Given the description of an element on the screen output the (x, y) to click on. 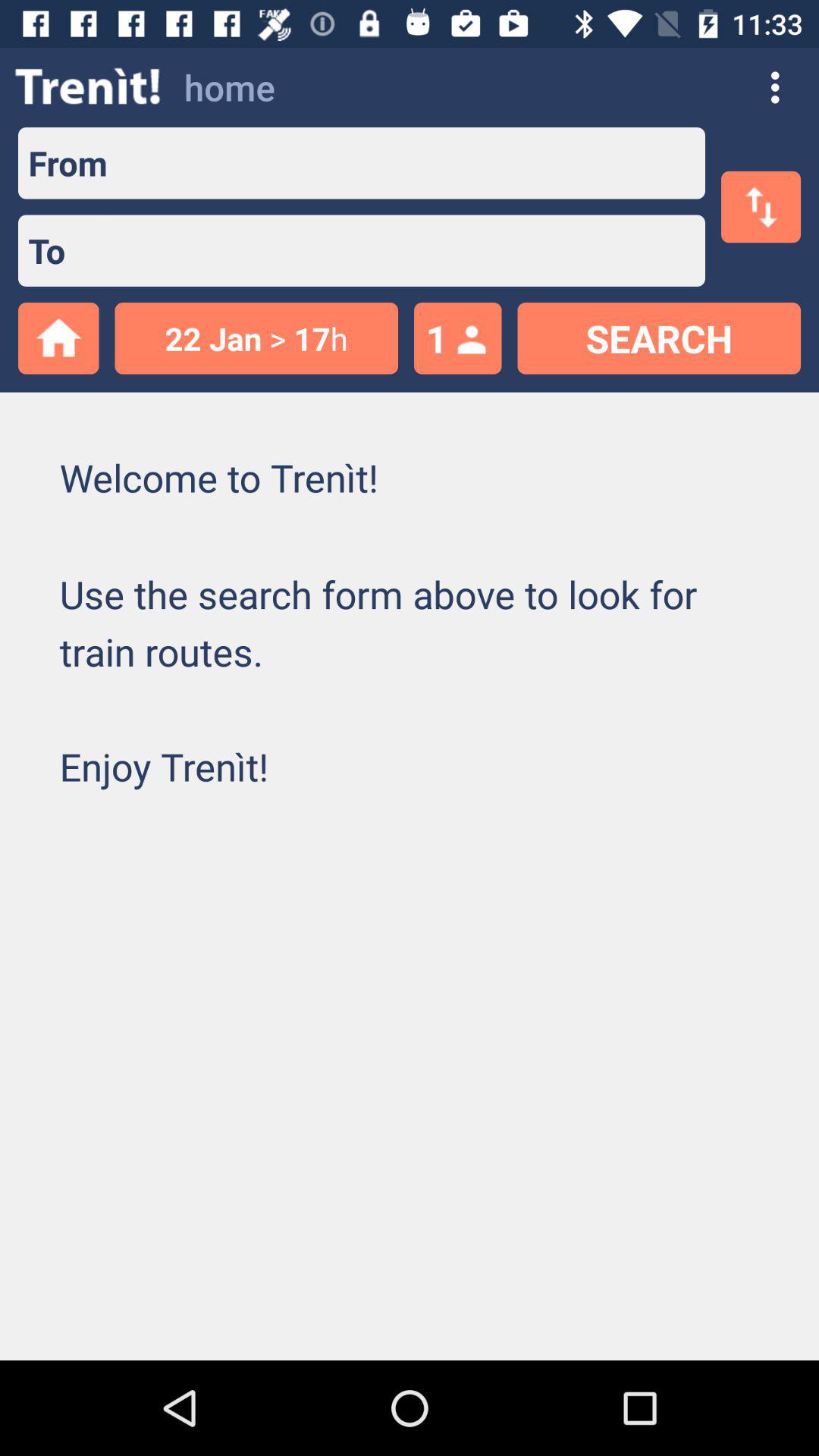
click from item (62, 163)
